Given the description of an element on the screen output the (x, y) to click on. 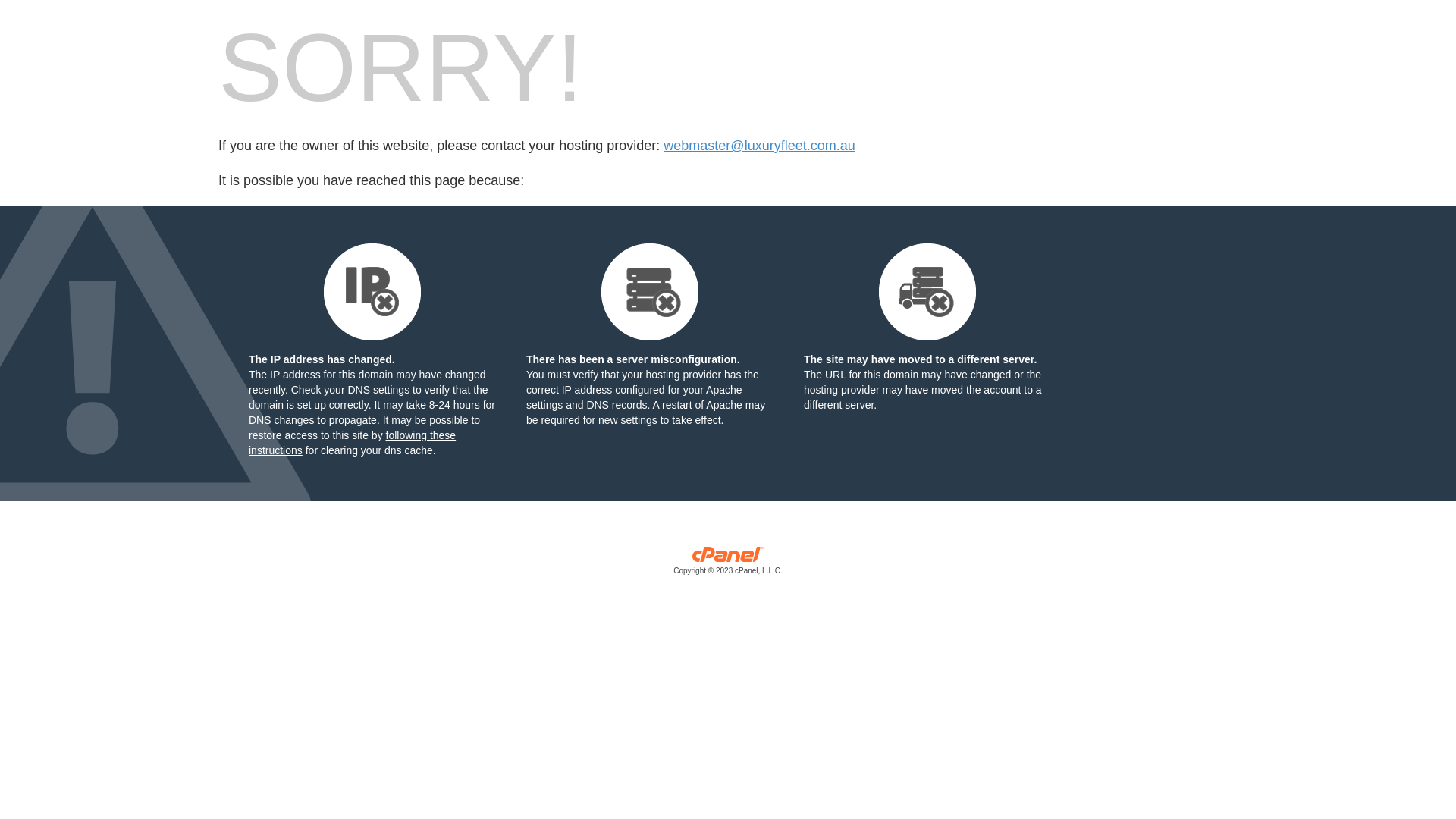
webmaster@luxuryfleet.com.au Element type: text (758, 145)
following these instructions Element type: text (351, 442)
